Given the description of an element on the screen output the (x, y) to click on. 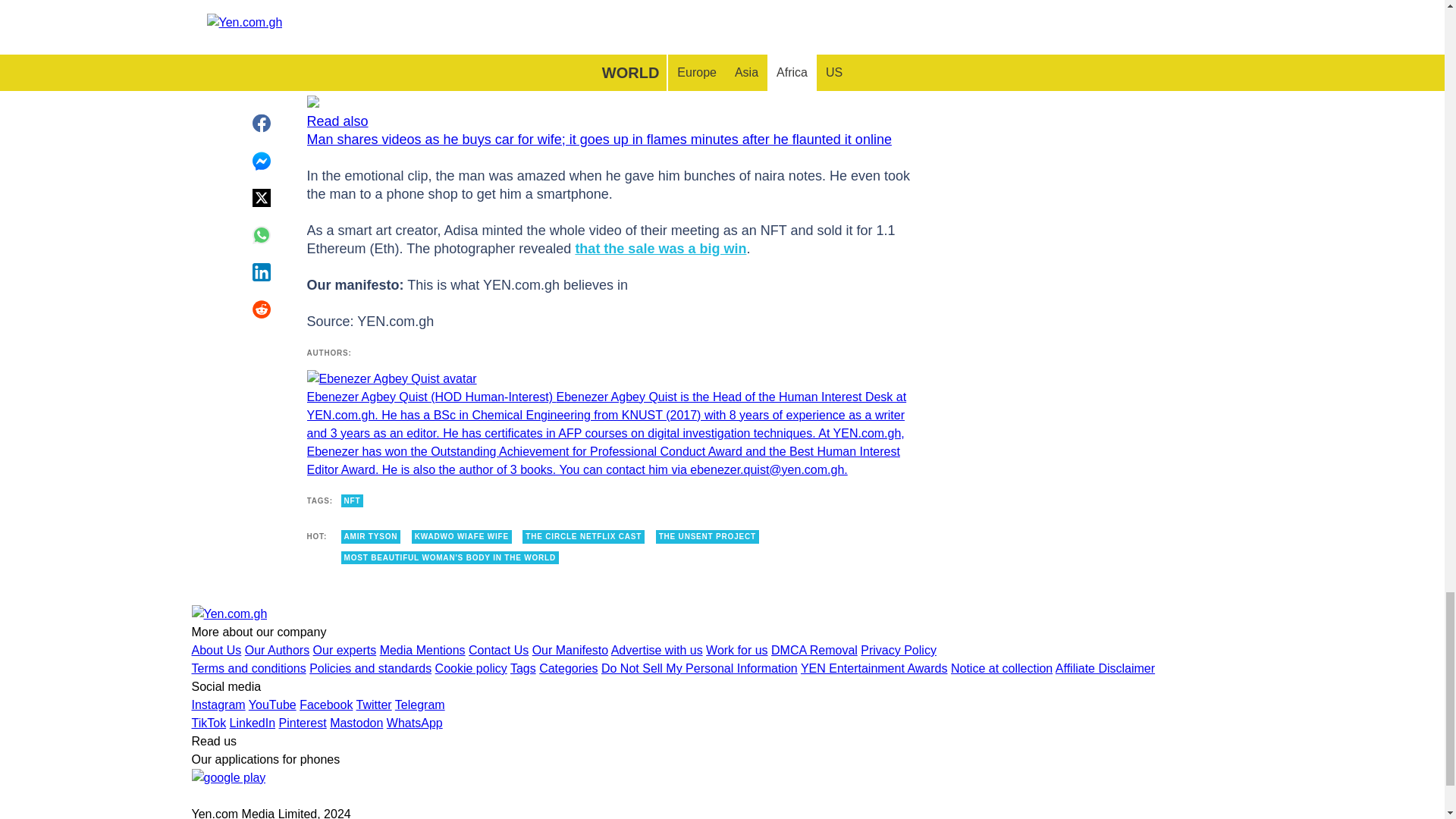
Author page (608, 424)
